Given the description of an element on the screen output the (x, y) to click on. 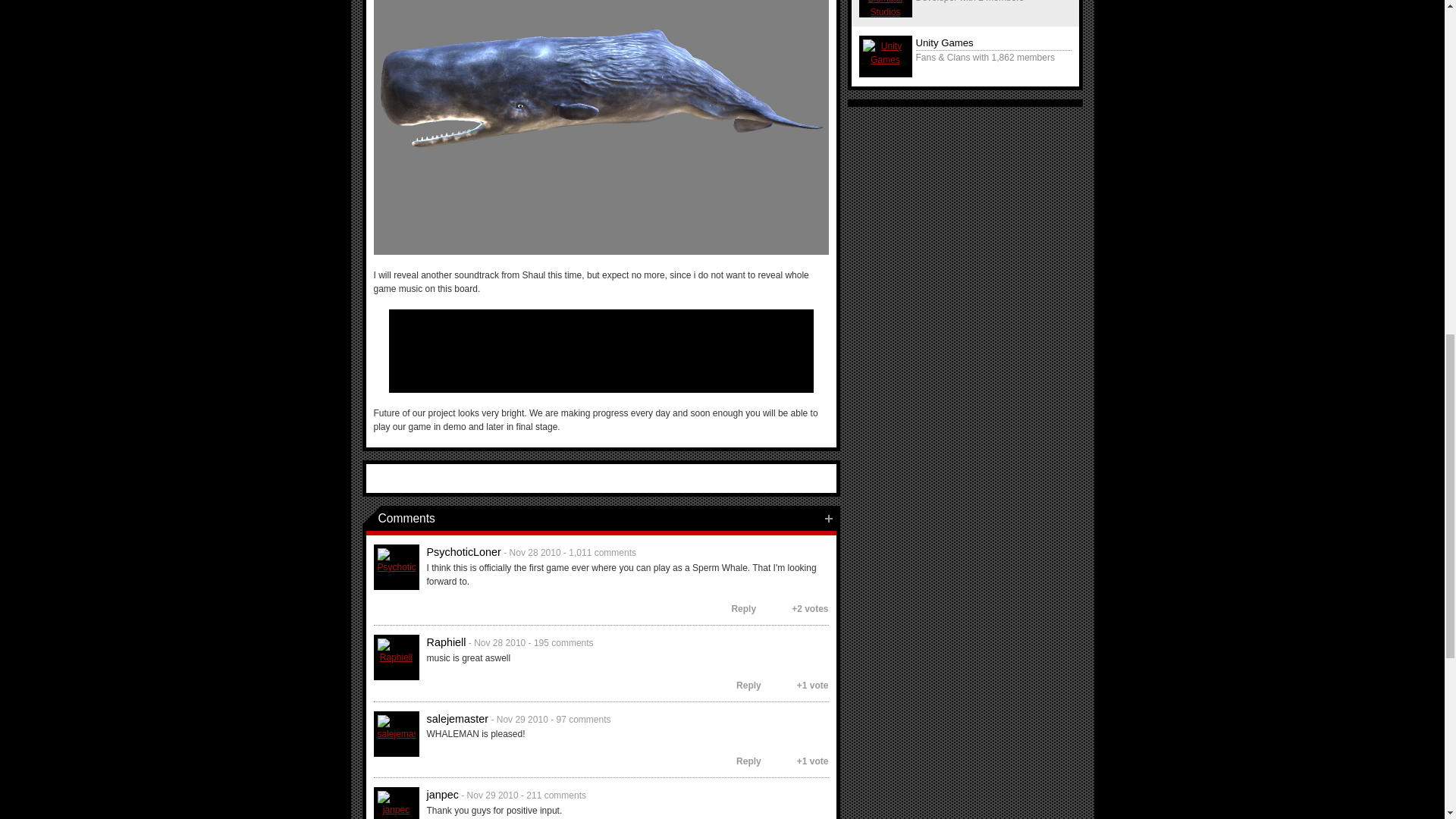
Reply (736, 608)
PsychoticLoner (395, 566)
Post comment (828, 518)
Good karma (765, 608)
